Given the description of an element on the screen output the (x, y) to click on. 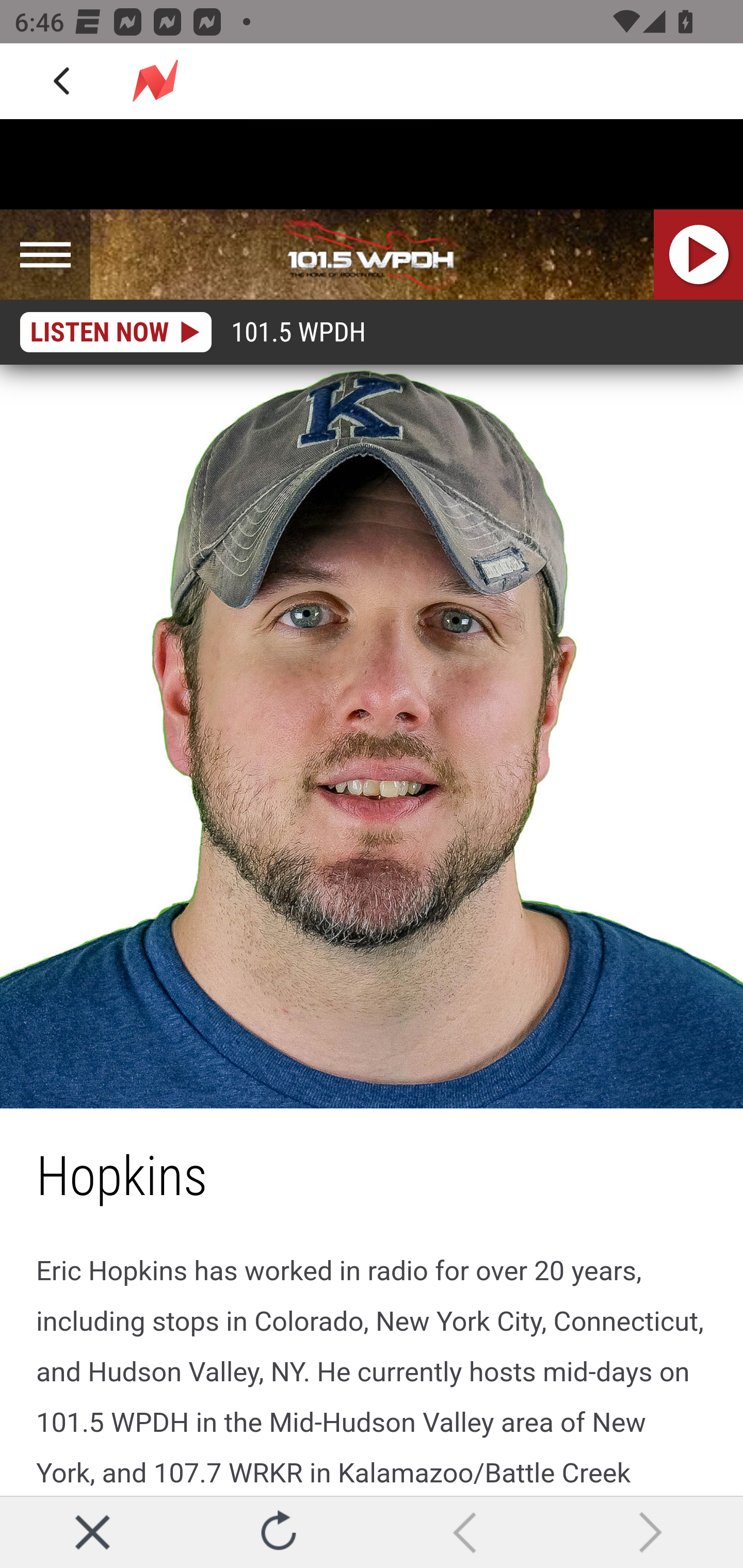
advertisement (371, 165)
101.5 WPDH (371, 255)
Listen Now (698, 255)
Hopkins (371, 736)
